Given the description of an element on the screen output the (x, y) to click on. 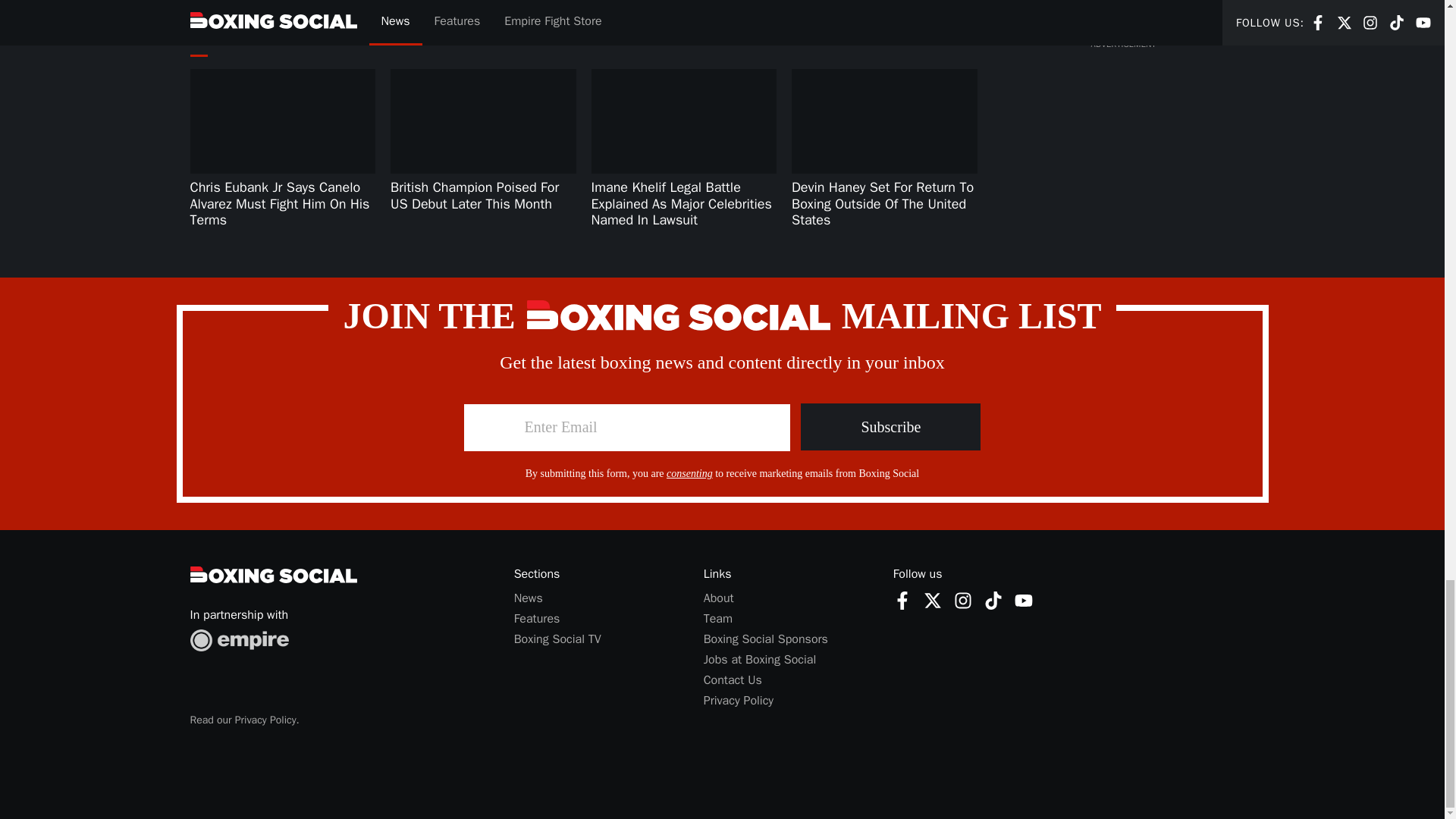
X (932, 600)
Instagram (962, 600)
Subscribe (889, 426)
News (528, 598)
Facebook (902, 600)
Boxing Social Sponsors (765, 639)
About (902, 599)
Contact Us (718, 598)
